Given the description of an element on the screen output the (x, y) to click on. 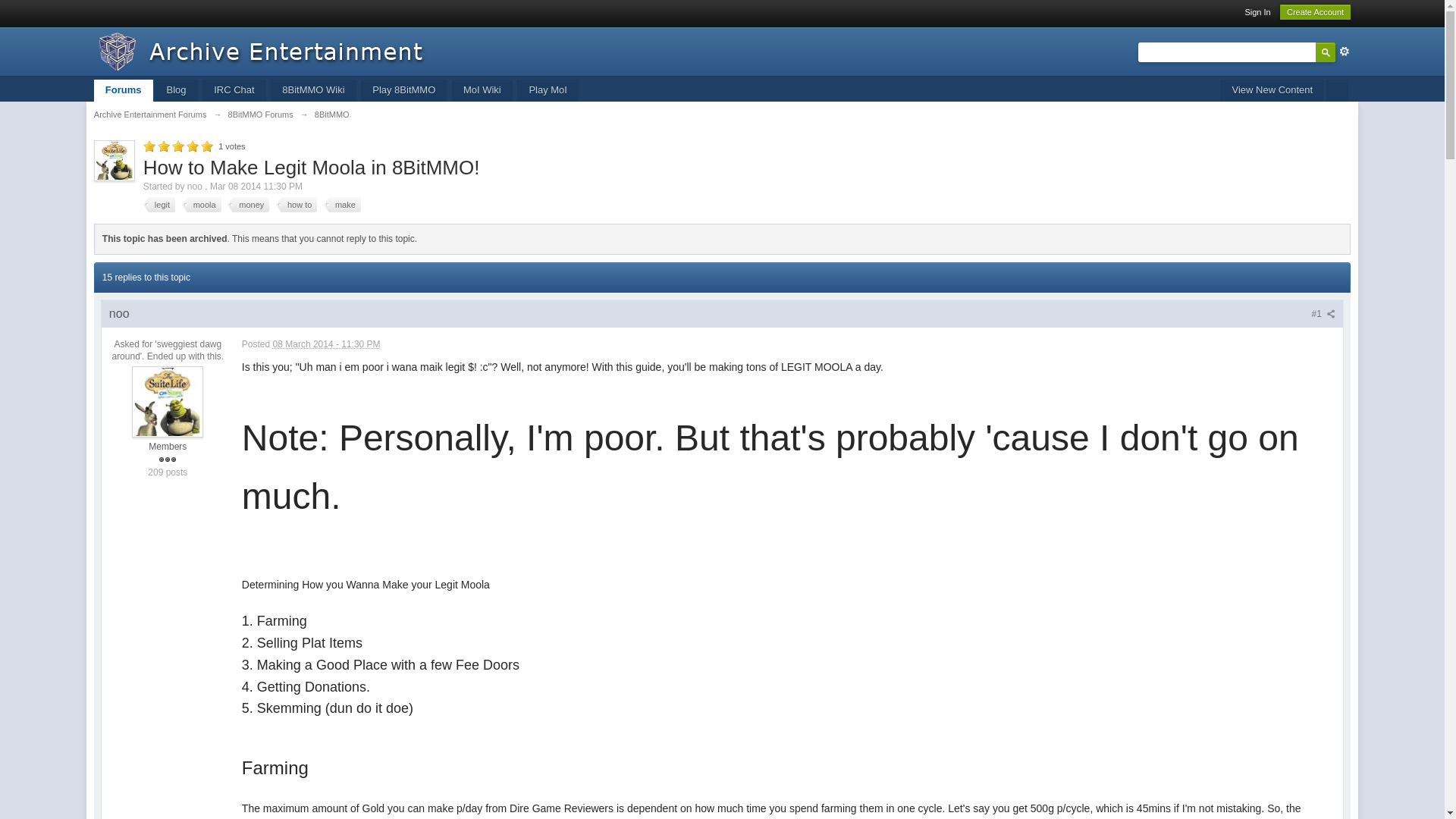
Create Account (1315, 11)
Blog (175, 90)
how to (296, 204)
money (248, 204)
IRC Chat (233, 90)
MoI Wiki (481, 90)
legit (158, 204)
Play 8BitMMO (403, 90)
Forums (123, 90)
Sign In (1256, 11)
Search (1325, 52)
Advanced Search (1344, 51)
Search (1325, 52)
Sign In (1256, 11)
8BitMMO Forums (261, 113)
